Given the description of an element on the screen output the (x, y) to click on. 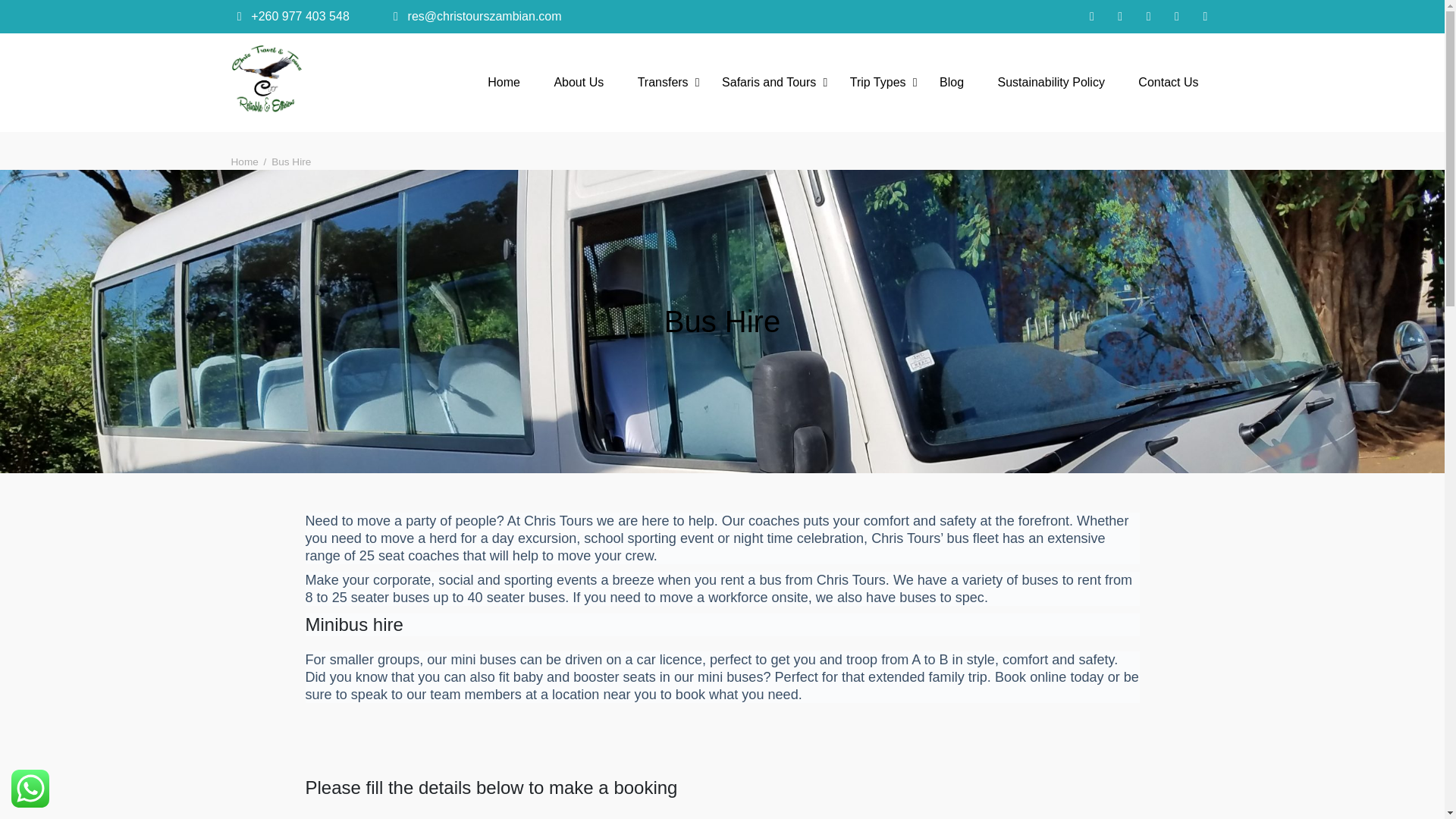
Contact Us (1167, 82)
Home (503, 82)
About Us (578, 82)
Safaris and Tours (768, 82)
Transfers (663, 82)
Chris Travel and Tours (393, 139)
Home (243, 161)
Blog (951, 82)
Trip Types (877, 82)
Sustainability Policy (1050, 82)
